Given the description of an element on the screen output the (x, y) to click on. 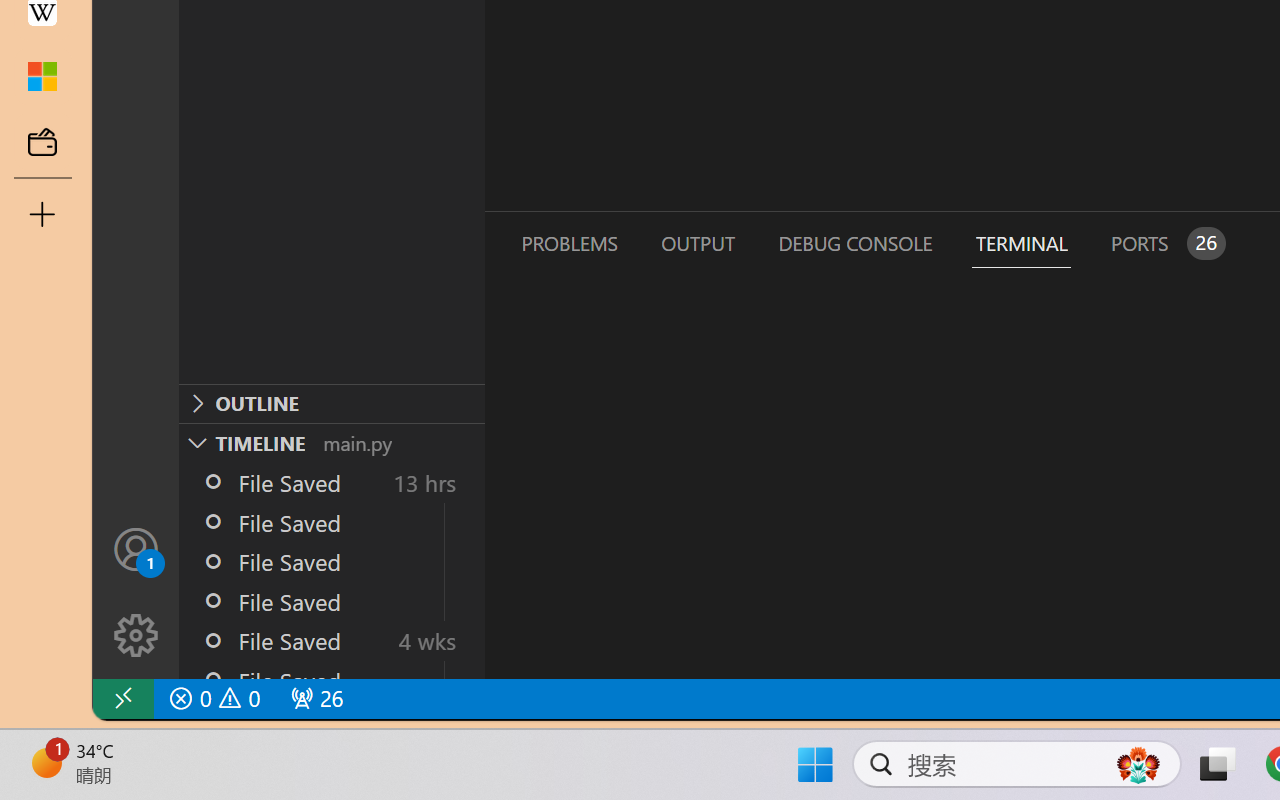
Outline Section (331, 403)
Ports - 26 forwarded ports (1165, 243)
Timeline Section (331, 442)
No Problems (212, 698)
Manage (135, 635)
Accounts - Sign in requested (135, 548)
Output (Ctrl+Shift+U) (696, 243)
Manage (135, 591)
